Given the description of an element on the screen output the (x, y) to click on. 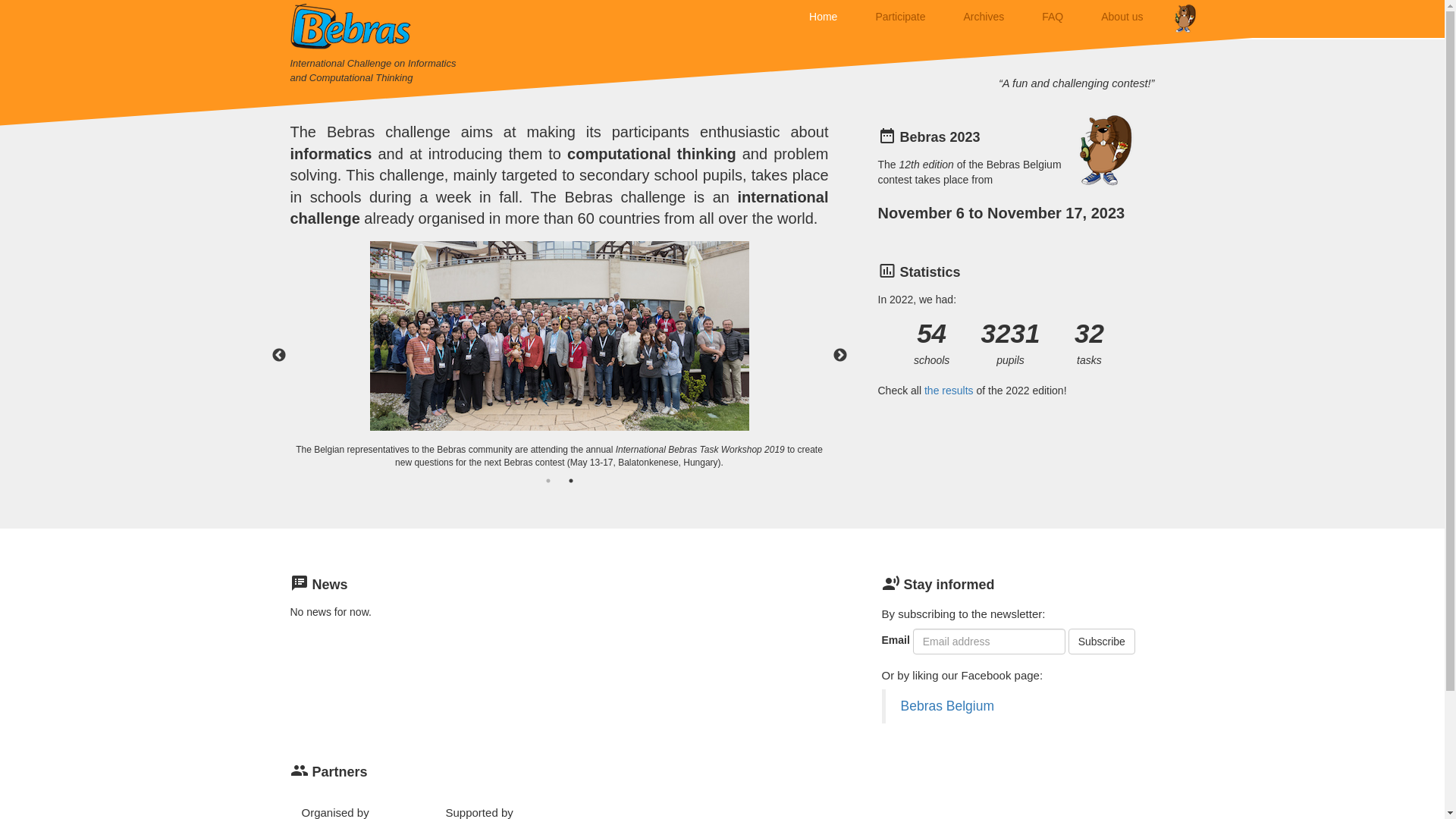
Participate Element type: text (899, 16)
About us Element type: text (1121, 16)
Home Element type: text (822, 16)
FAQ Element type: text (1052, 16)
Subscribe Element type: text (1101, 641)
Previous Element type: text (278, 355)
Archives Element type: text (984, 16)
the results Element type: text (948, 390)
1 Element type: text (547, 480)
Next Element type: text (839, 355)
Bebras Belgium Element type: text (947, 705)
2 Element type: text (569, 480)
